Given the description of an element on the screen output the (x, y) to click on. 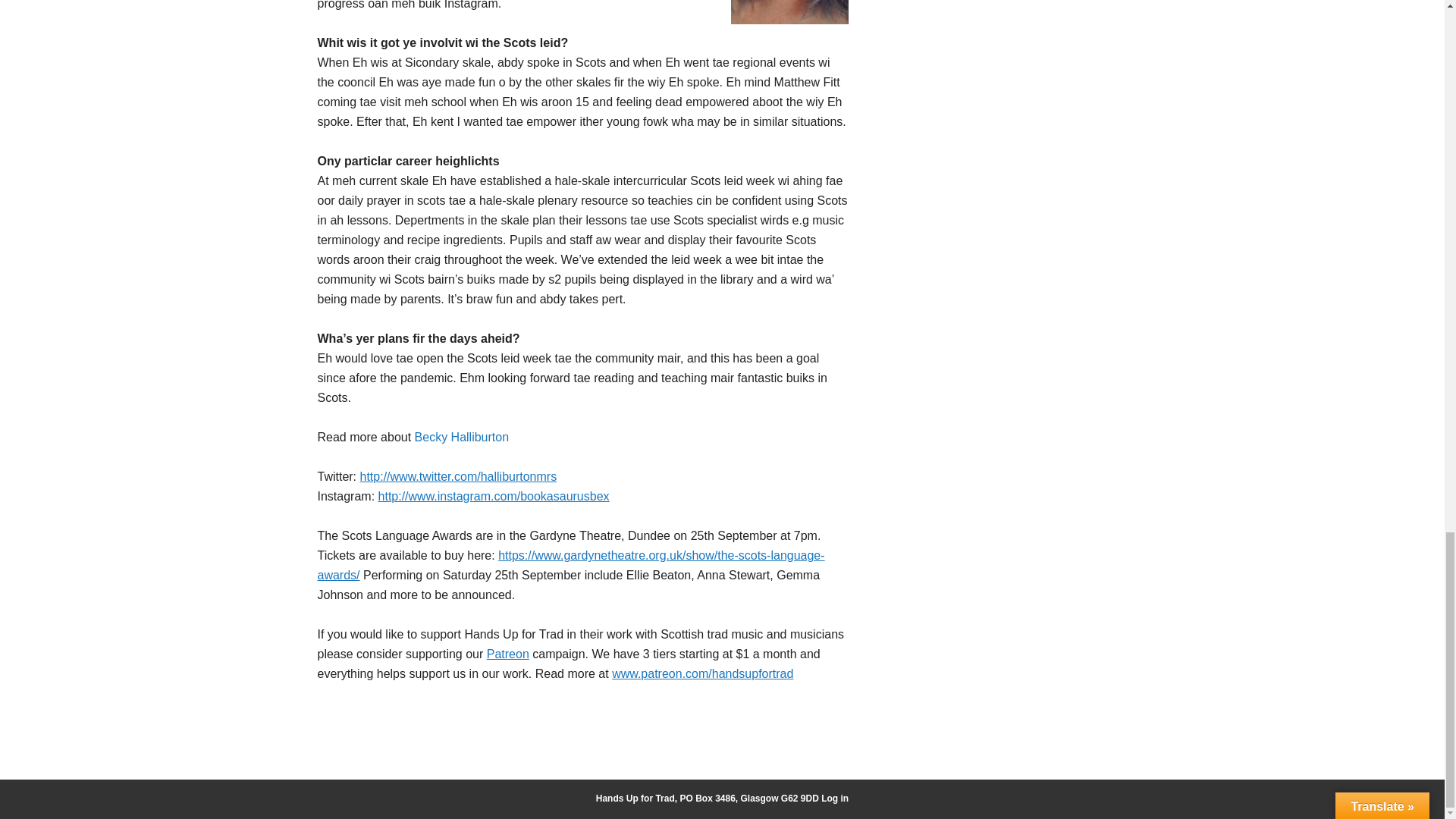
Becky Halliburton (461, 436)
Patreon (507, 653)
Log in (834, 798)
